Given the description of an element on the screen output the (x, y) to click on. 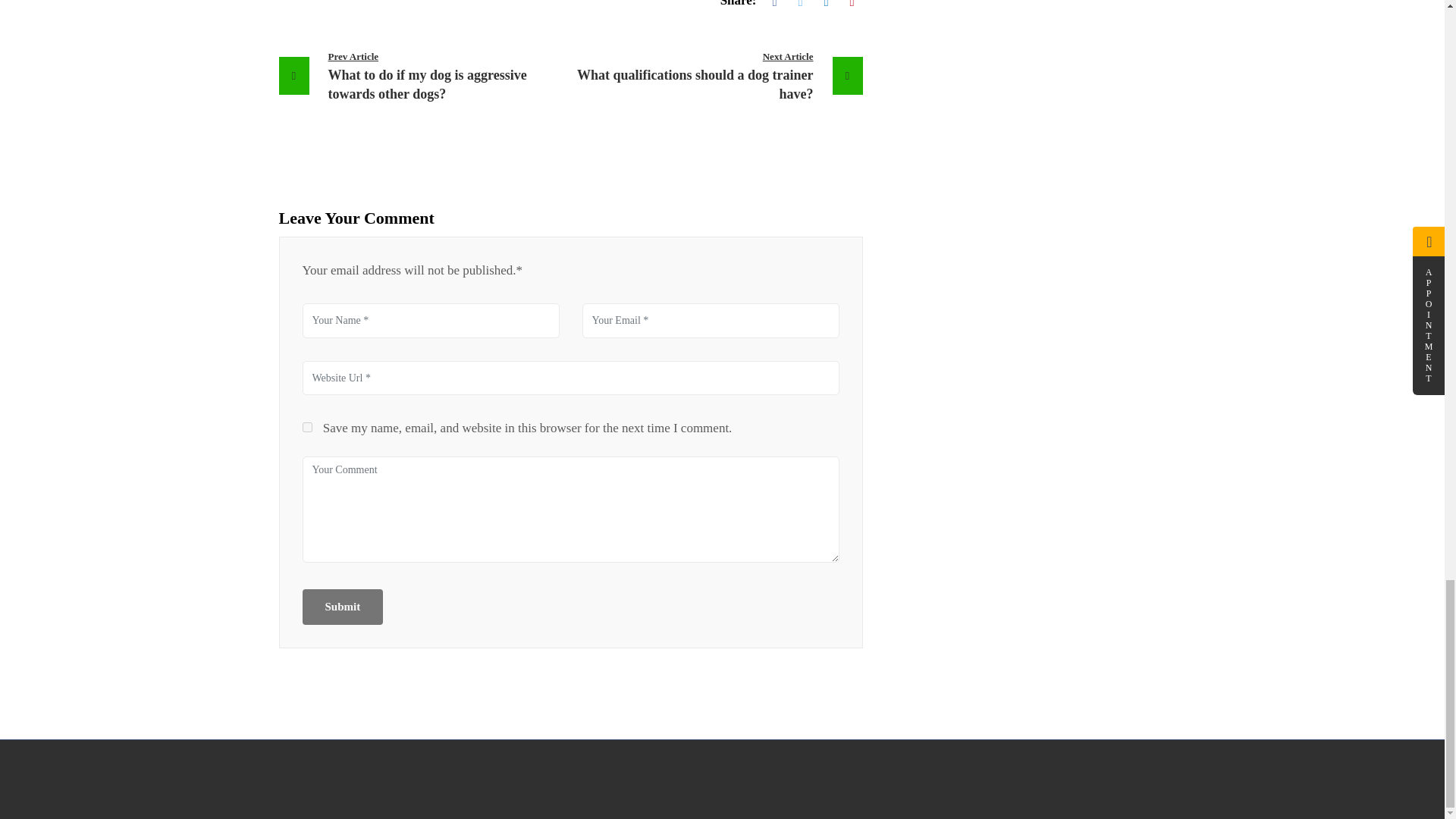
yes (306, 427)
Click to send this page to Twitter! (800, 5)
Submit (715, 75)
Submit (341, 606)
